Given the description of an element on the screen output the (x, y) to click on. 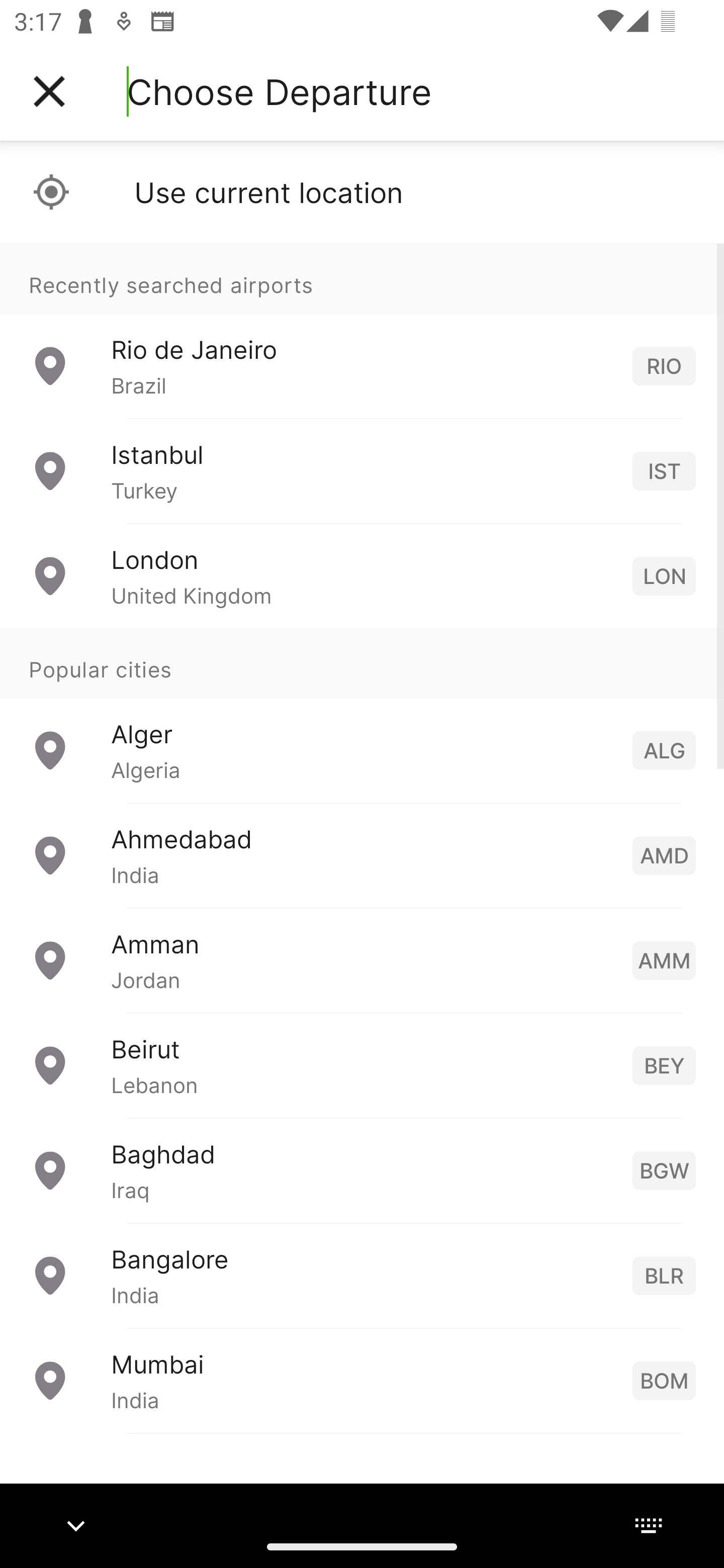
Choose Departure (279, 91)
Use current location (362, 192)
Recently searched airports (362, 278)
Istanbul Turkey IST (362, 470)
London United Kingdom LON (362, 575)
Popular cities Alger Algeria ALG (362, 715)
Popular cities (362, 663)
Ahmedabad India AMD (362, 854)
Amman Jordan AMM (362, 959)
Beirut Lebanon BEY (362, 1064)
Baghdad Iraq BGW (362, 1170)
Bangalore India BLR (362, 1275)
Mumbai India BOM (362, 1380)
